Given the description of an element on the screen output the (x, y) to click on. 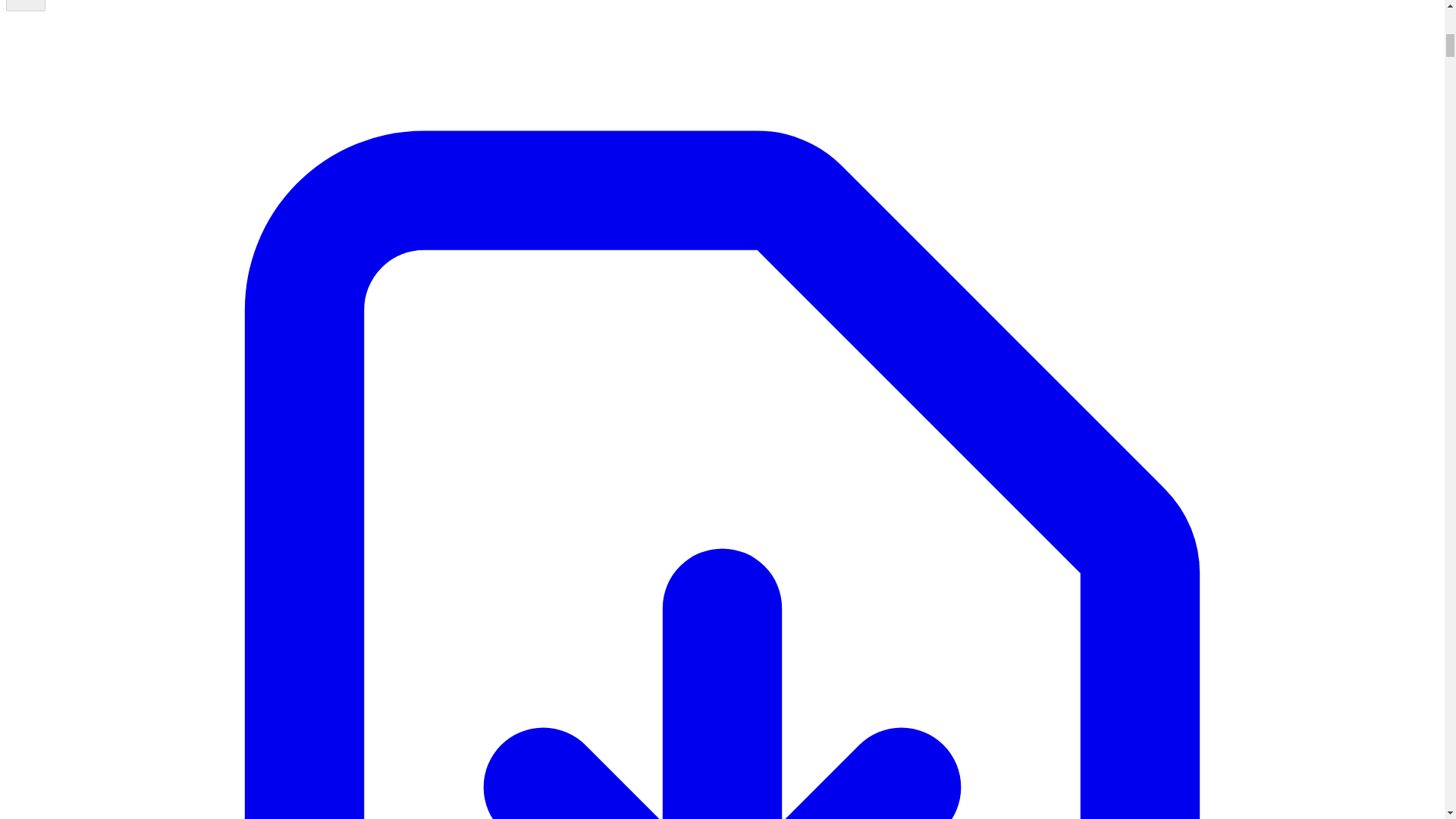
Share (25, 5)
